Given the description of an element on the screen output the (x, y) to click on. 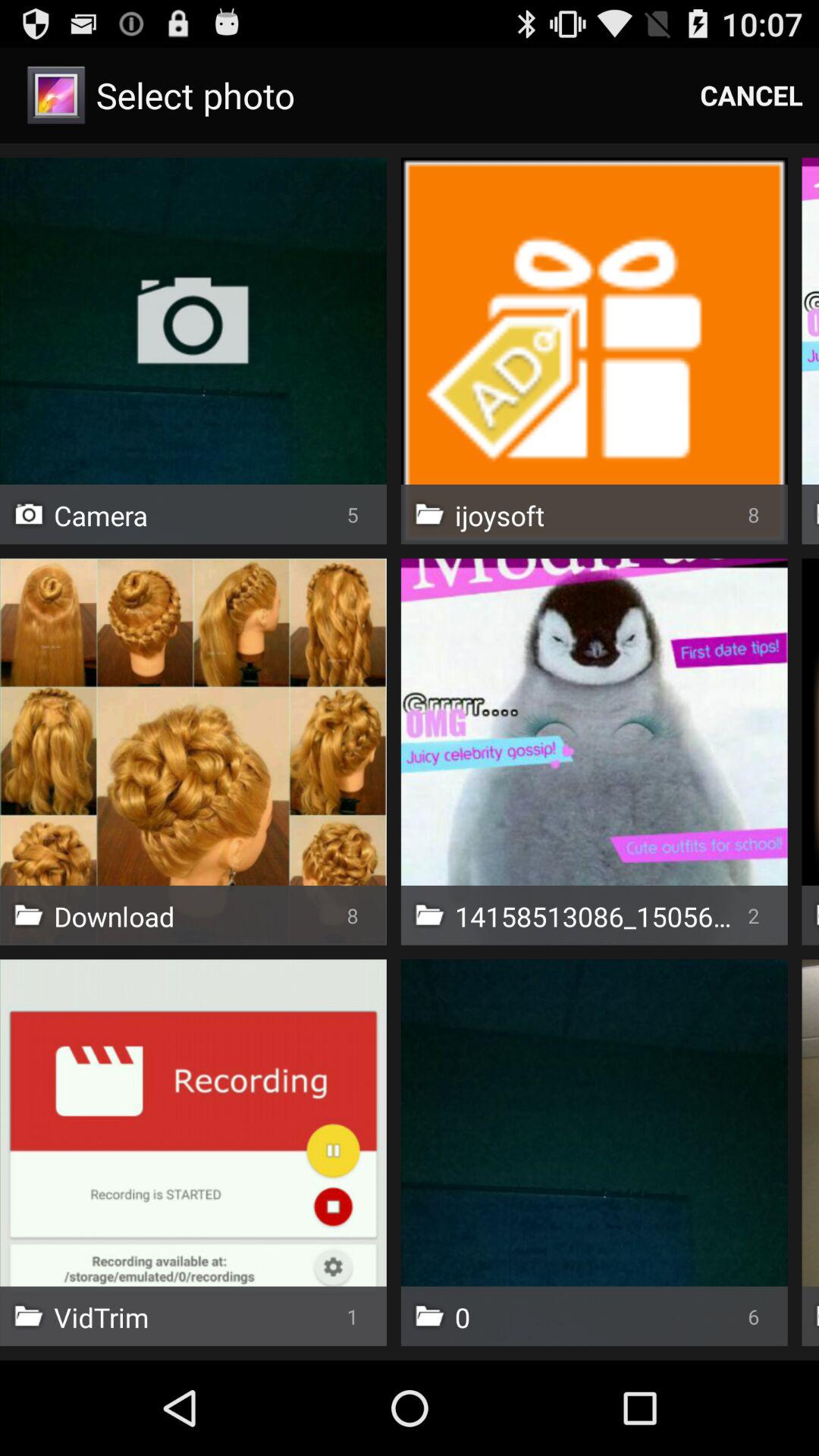
launch the icon to the right of the select photo icon (751, 95)
